Given the description of an element on the screen output the (x, y) to click on. 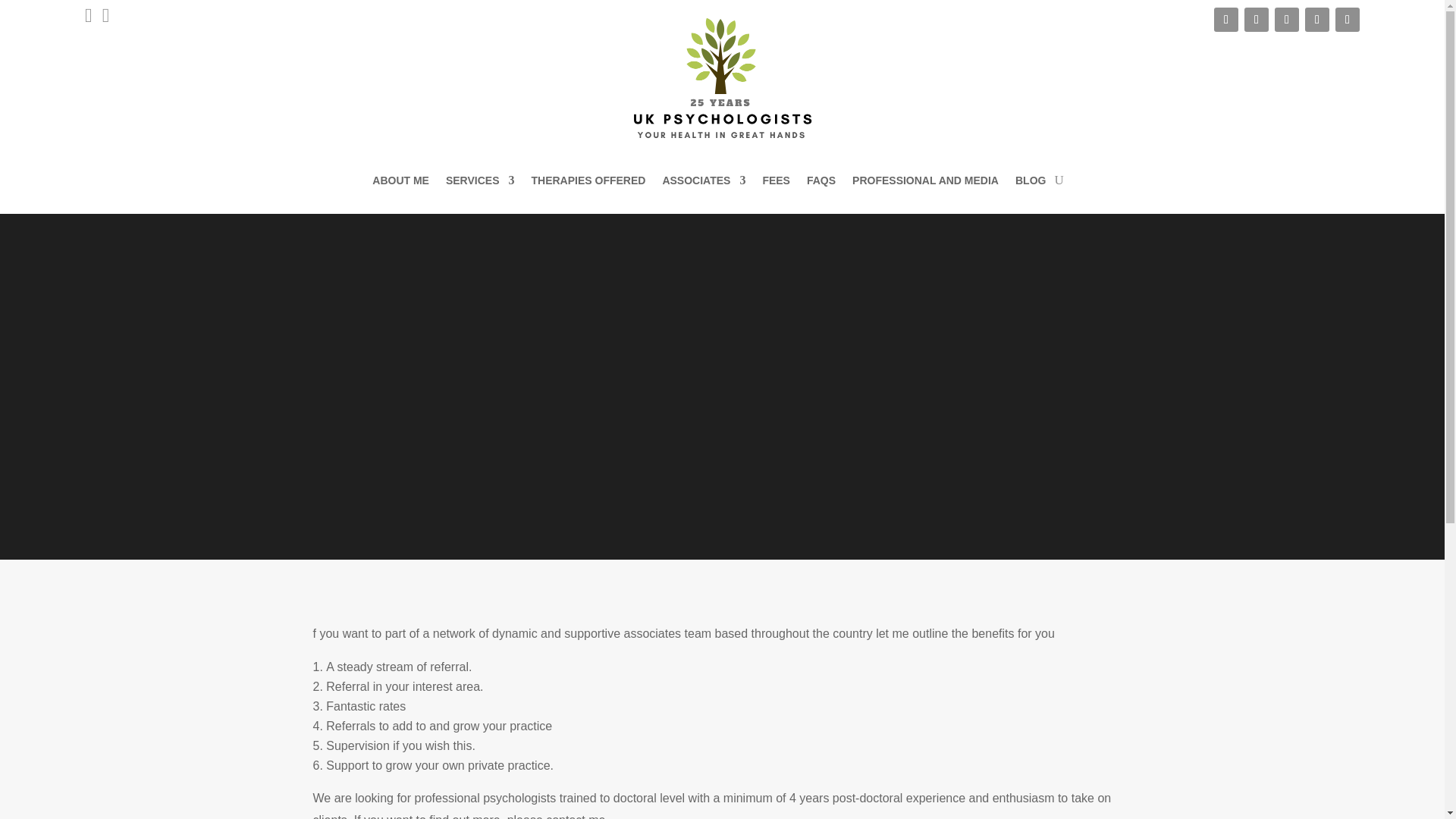
Follow on Instagram (1347, 19)
Follow on Twitter (1226, 19)
PROFESSIONAL AND MEDIA (924, 180)
Follow on Youtube (1256, 19)
SERVICES (480, 180)
THERAPIES OFFERED (588, 180)
Follow on Facebook (1316, 19)
ASSOCIATES (703, 180)
ABOUT ME (400, 180)
Follow on LinkedIn (1286, 19)
